Given the description of an element on the screen output the (x, y) to click on. 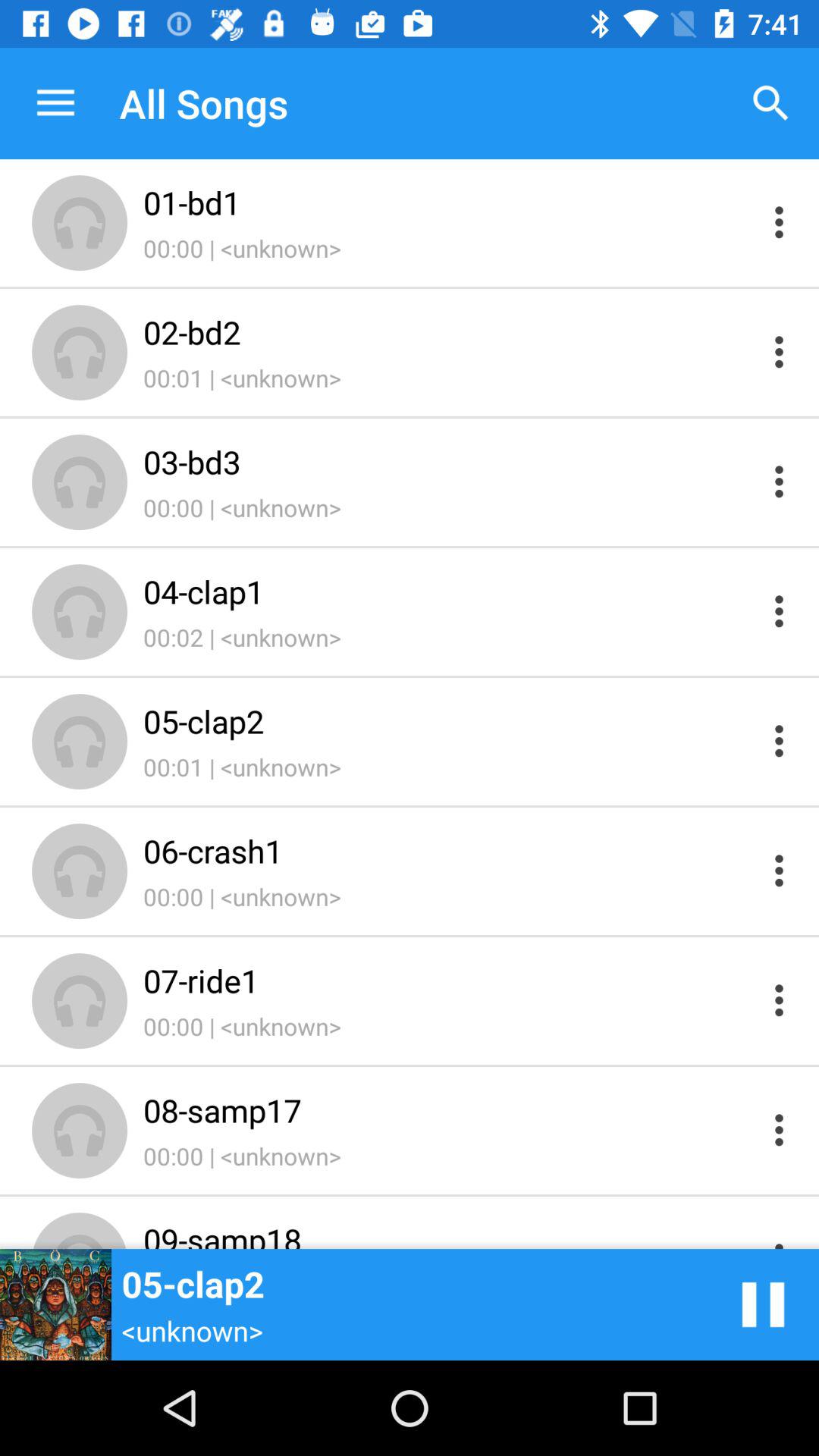
tap the 05-clap2 item (449, 720)
